Given the description of an element on the screen output the (x, y) to click on. 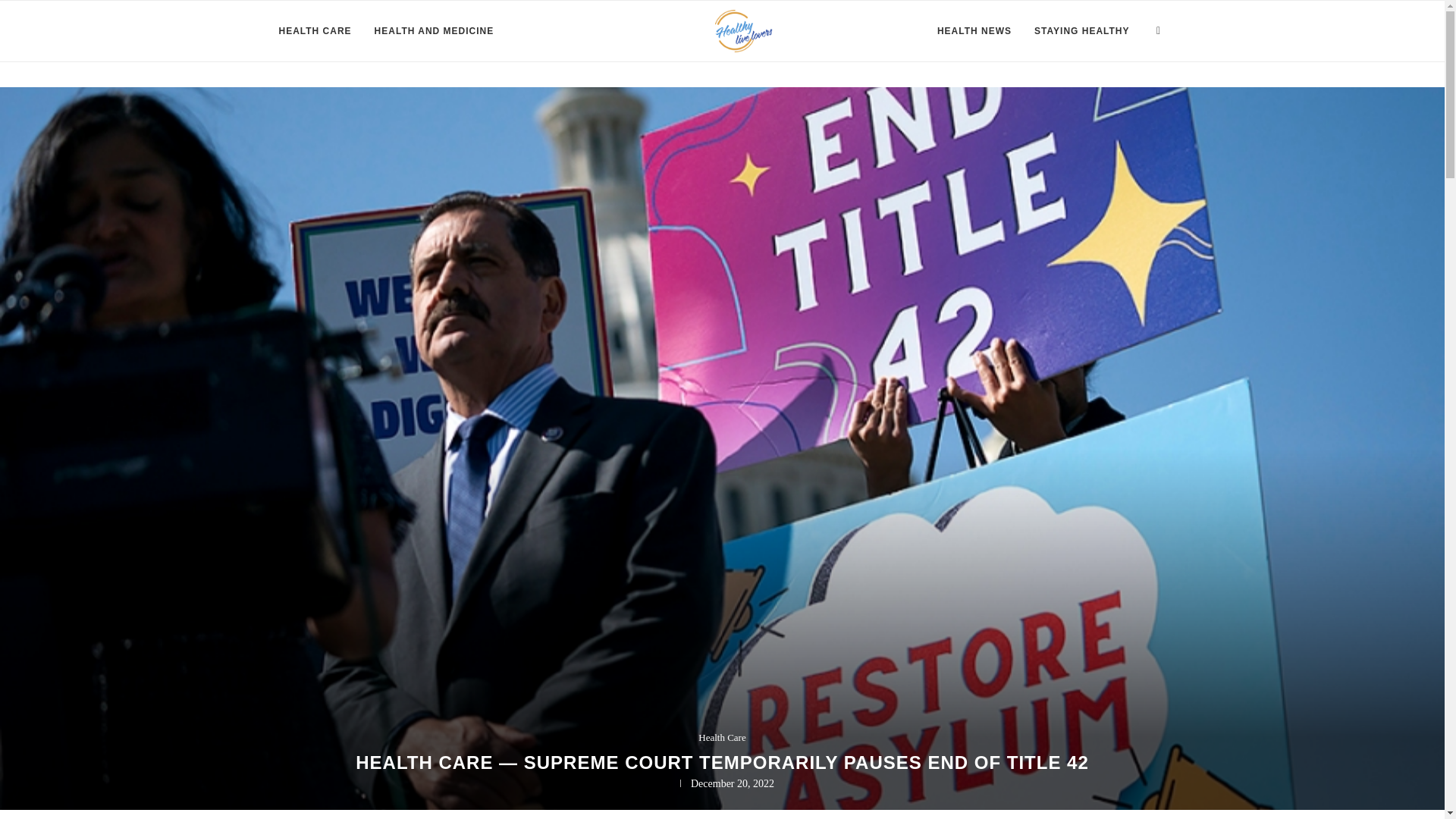
HEALTH CARE (315, 30)
HEALTH AND MEDICINE (434, 30)
STAYING HEALTHY (1081, 30)
HEALTH NEWS (974, 30)
Health Care (721, 737)
